Given the description of an element on the screen output the (x, y) to click on. 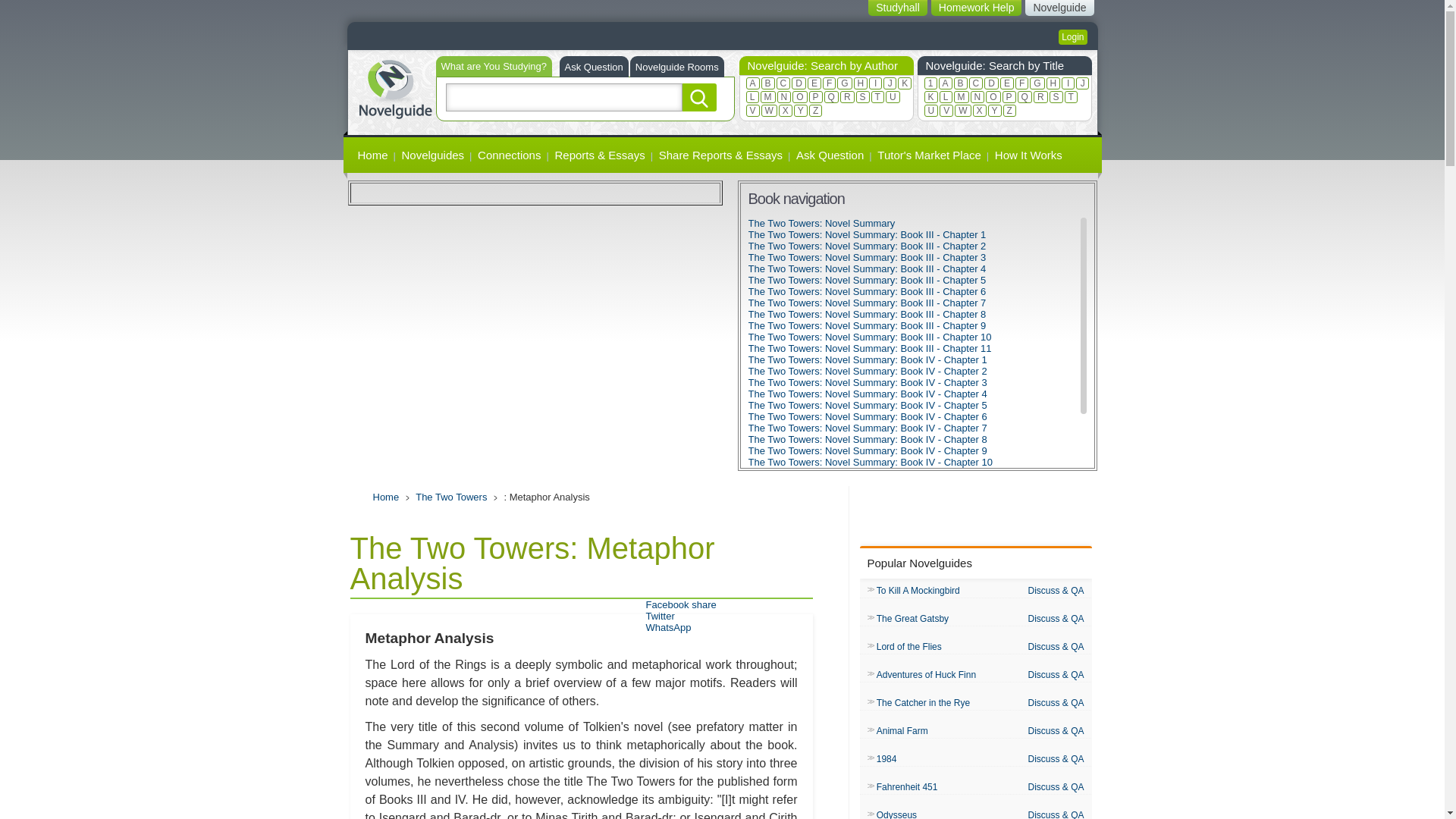
Novelguide Homework Rooms (676, 66)
Homework Help (976, 7)
How It Works (1028, 154)
Home (394, 87)
Studyhall (897, 7)
Enter the terms you wish to search for. (563, 97)
Search (699, 97)
Login to get help or to help others (1072, 37)
Novelguides (433, 154)
Novelguide (1059, 7)
Login (1072, 37)
